Given the description of an element on the screen output the (x, y) to click on. 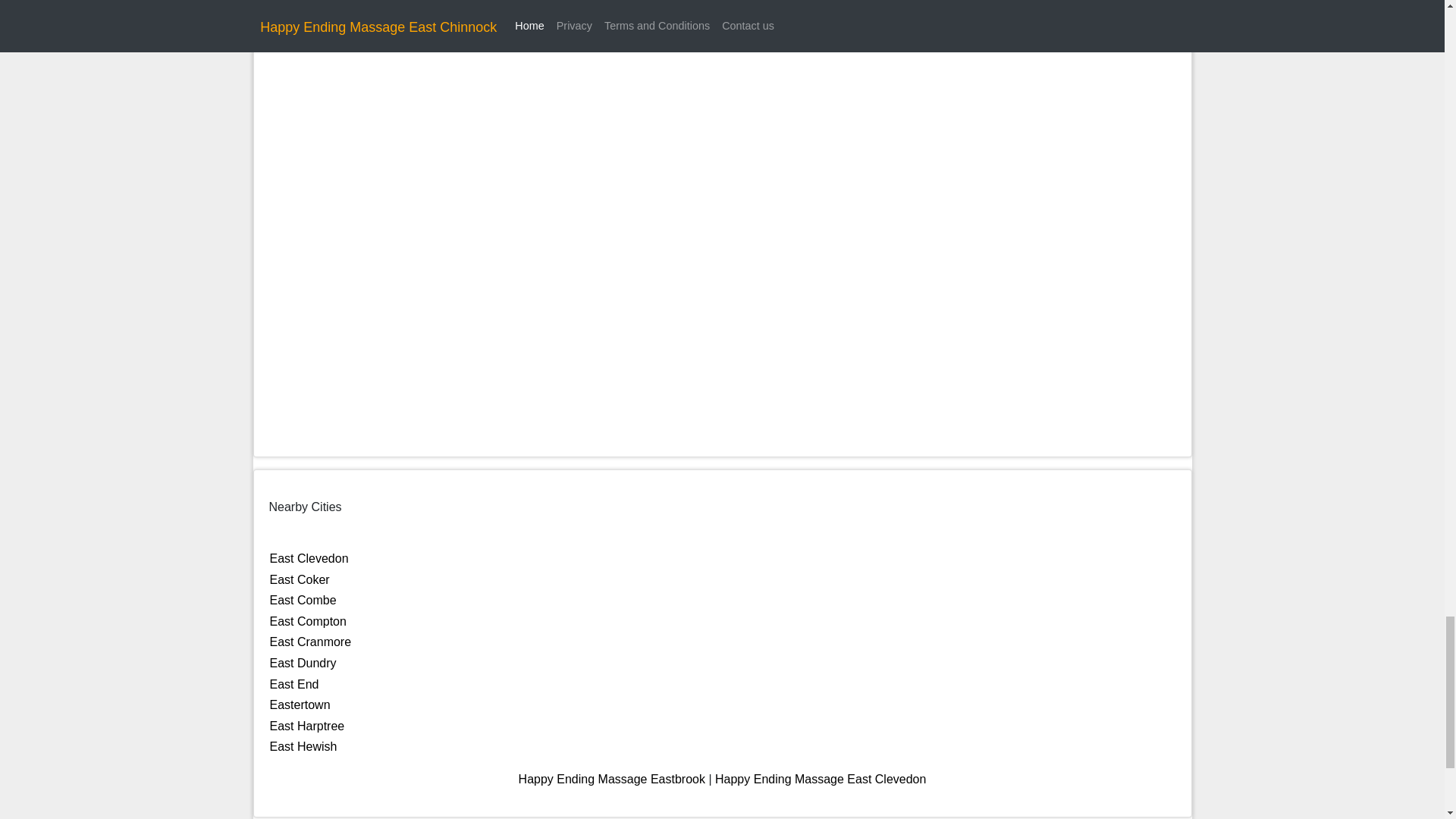
East Cranmore (310, 641)
East Hewish (303, 746)
East Combe (302, 599)
East End (293, 684)
Happy Ending Massage East Clevedon (820, 779)
East Compton (307, 621)
East Clevedon (309, 558)
East Coker (299, 579)
East Harptree (307, 725)
East Dundry (302, 662)
Happy Ending Massage Eastbrook (611, 779)
Eastertown (299, 704)
